Given the description of an element on the screen output the (x, y) to click on. 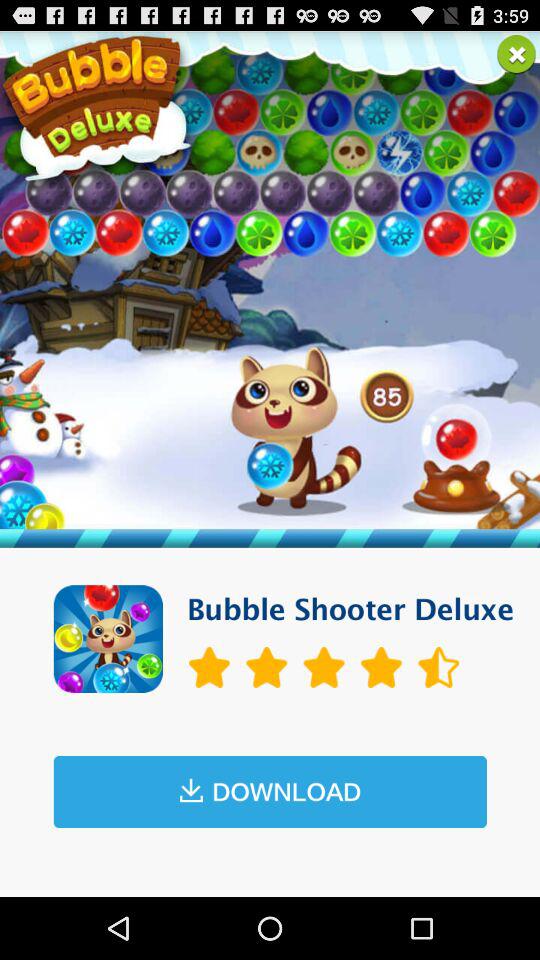
exit page (516, 54)
